Given the description of an element on the screen output the (x, y) to click on. 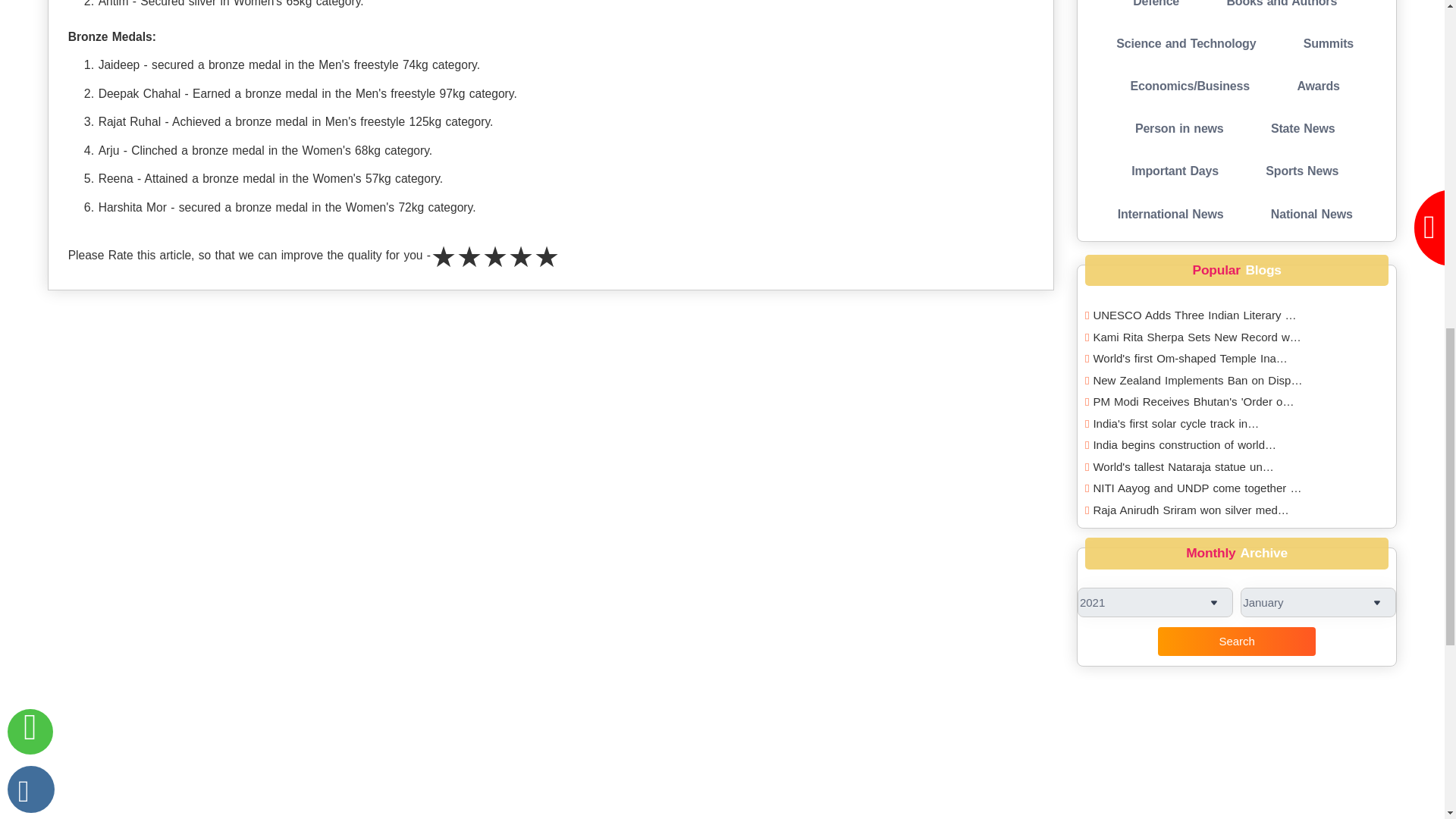
Give 2 stars (469, 256)
Give 4 stars (521, 256)
Give 3 stars (494, 256)
Give 5 stars (546, 256)
Give 1 star (443, 256)
